Given the description of an element on the screen output the (x, y) to click on. 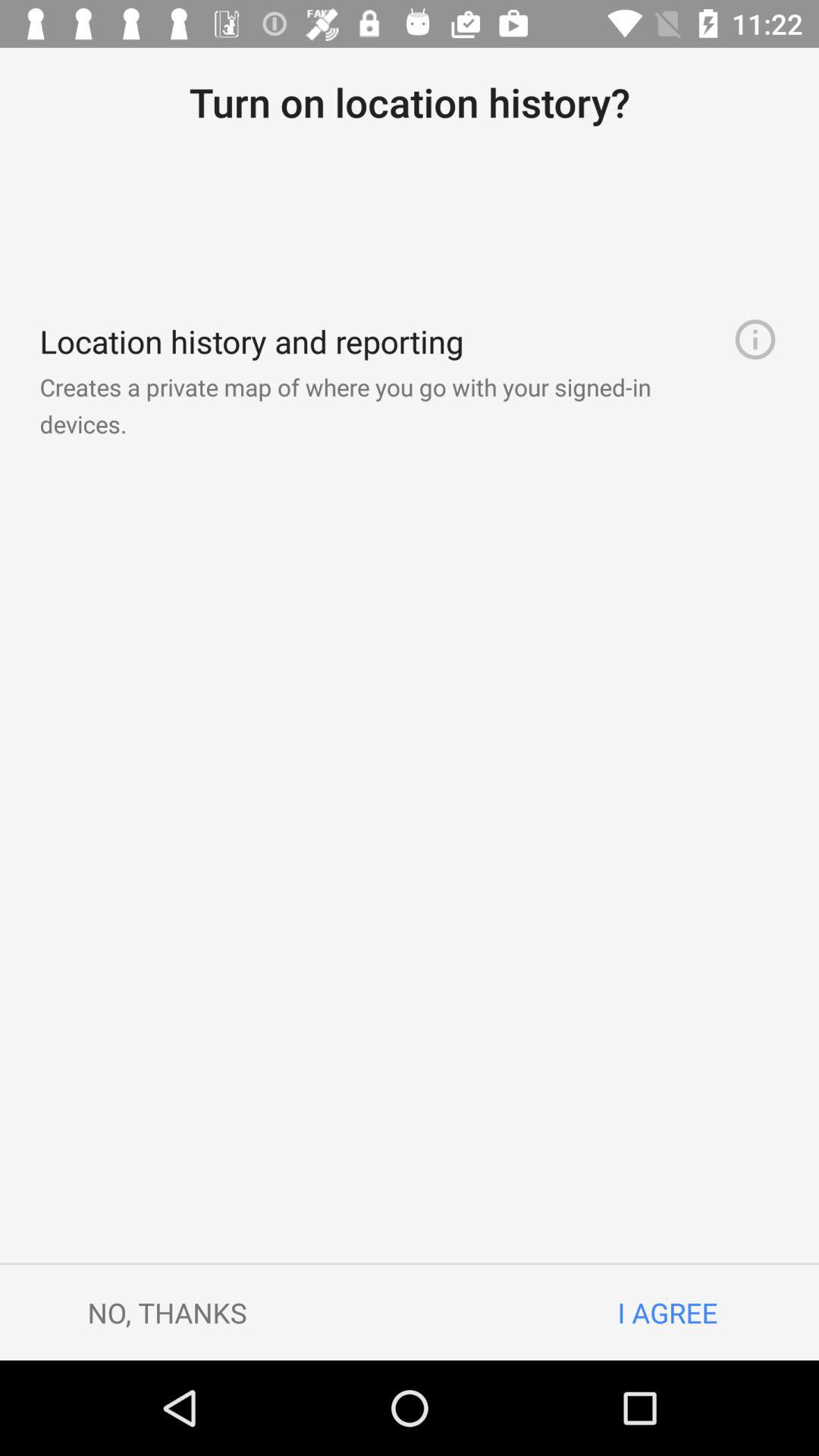
jump until i agree item (667, 1312)
